Given the description of an element on the screen output the (x, y) to click on. 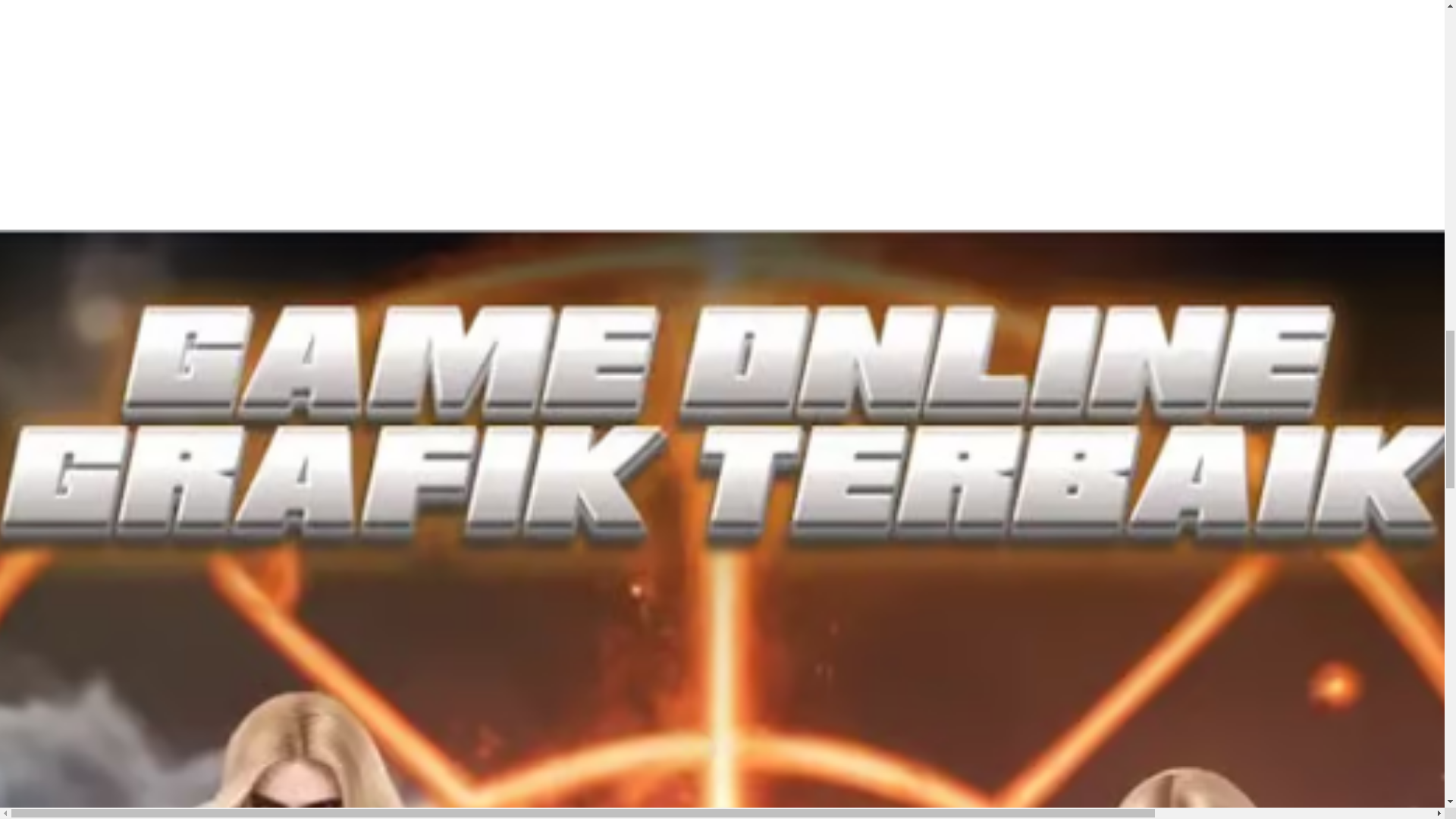
ASTRA77 - Daftar Link Situs Game Paling Update Hari Ini (178, 567)
Store (18, 567)
